Given the description of an element on the screen output the (x, y) to click on. 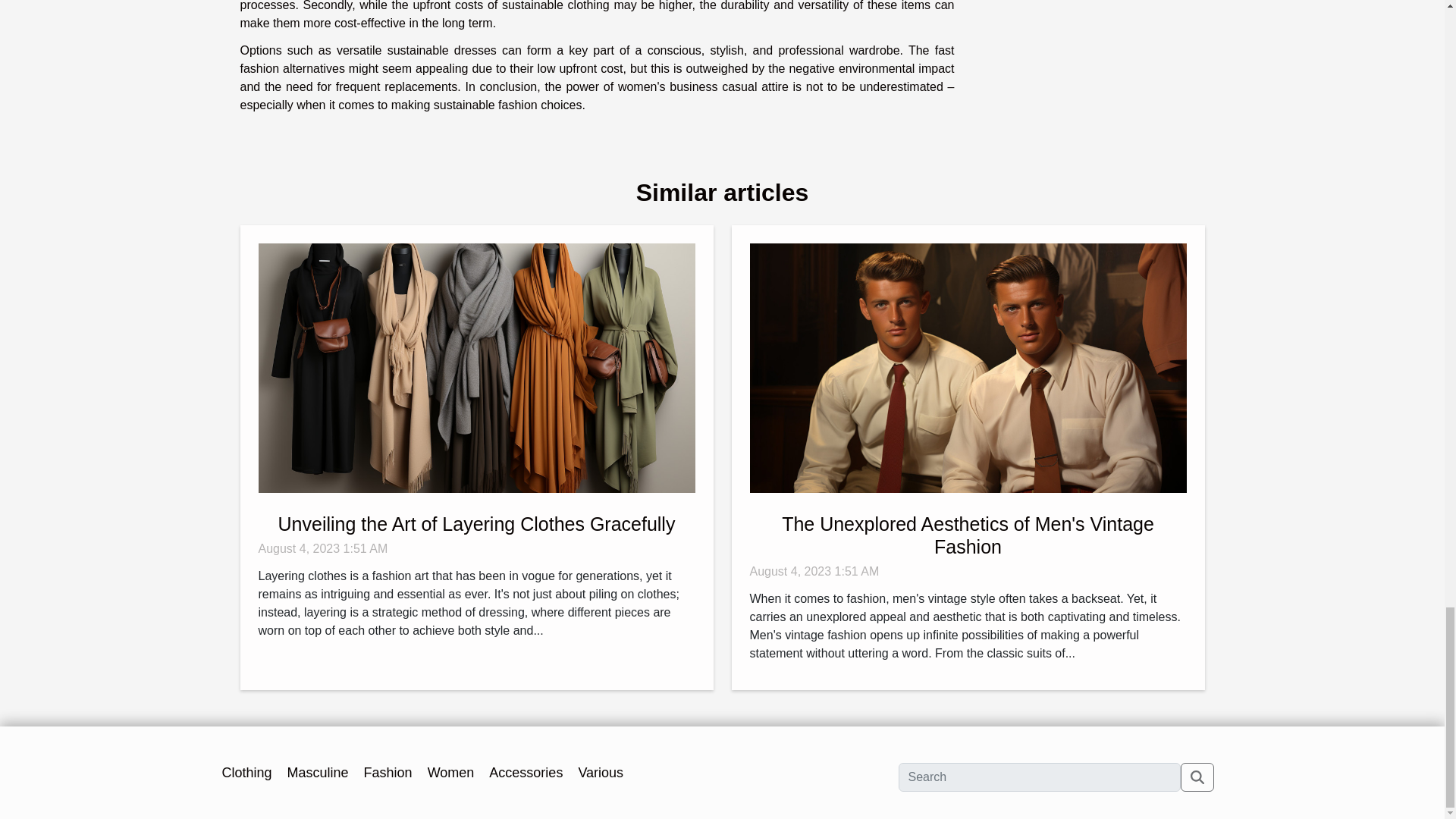
The Unexplored Aesthetics of Men's Vintage Fashion (967, 535)
Unveiling the Art of Layering Clothes Gracefully (476, 523)
Unveiling the Art of Layering Clothes Gracefully (475, 367)
Women (451, 772)
The Unexplored Aesthetics of Men's Vintage Fashion (967, 367)
Women (451, 772)
Masculine (317, 772)
Fashion (388, 772)
Unveiling the Art of Layering Clothes Gracefully (476, 523)
Clothing (245, 772)
